Given the description of an element on the screen output the (x, y) to click on. 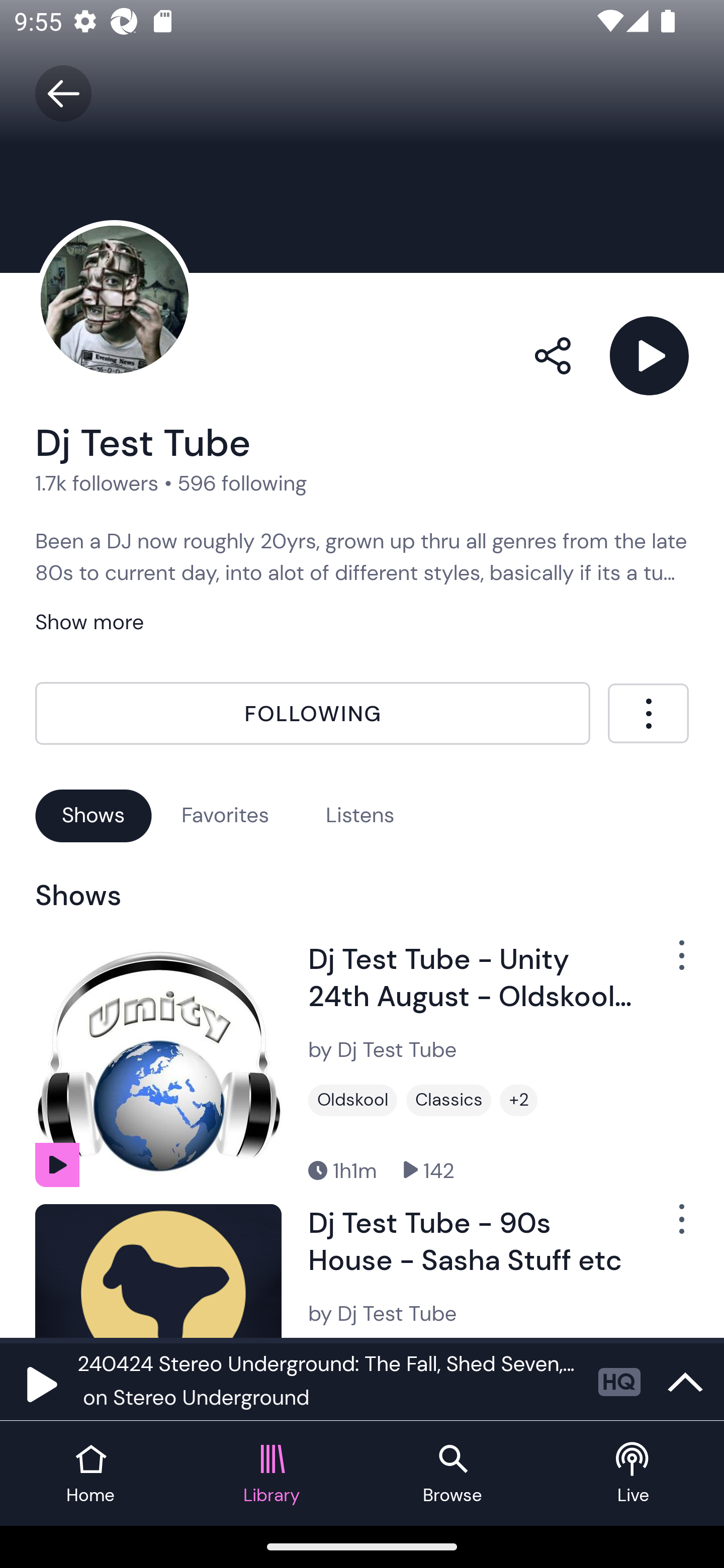
1.7k followers (96, 482)
596 following (241, 482)
Following FOLLOWING (312, 713)
More Menu (648, 713)
Shows (93, 815)
Favorites (225, 815)
Listens (359, 815)
Show Options Menu Button (670, 963)
Oldskool (352, 1100)
Classics (448, 1100)
Show Options Menu Button (670, 1226)
Home tab Home (90, 1473)
Library tab Library (271, 1473)
Browse tab Browse (452, 1473)
Live tab Live (633, 1473)
